Given the description of an element on the screen output the (x, y) to click on. 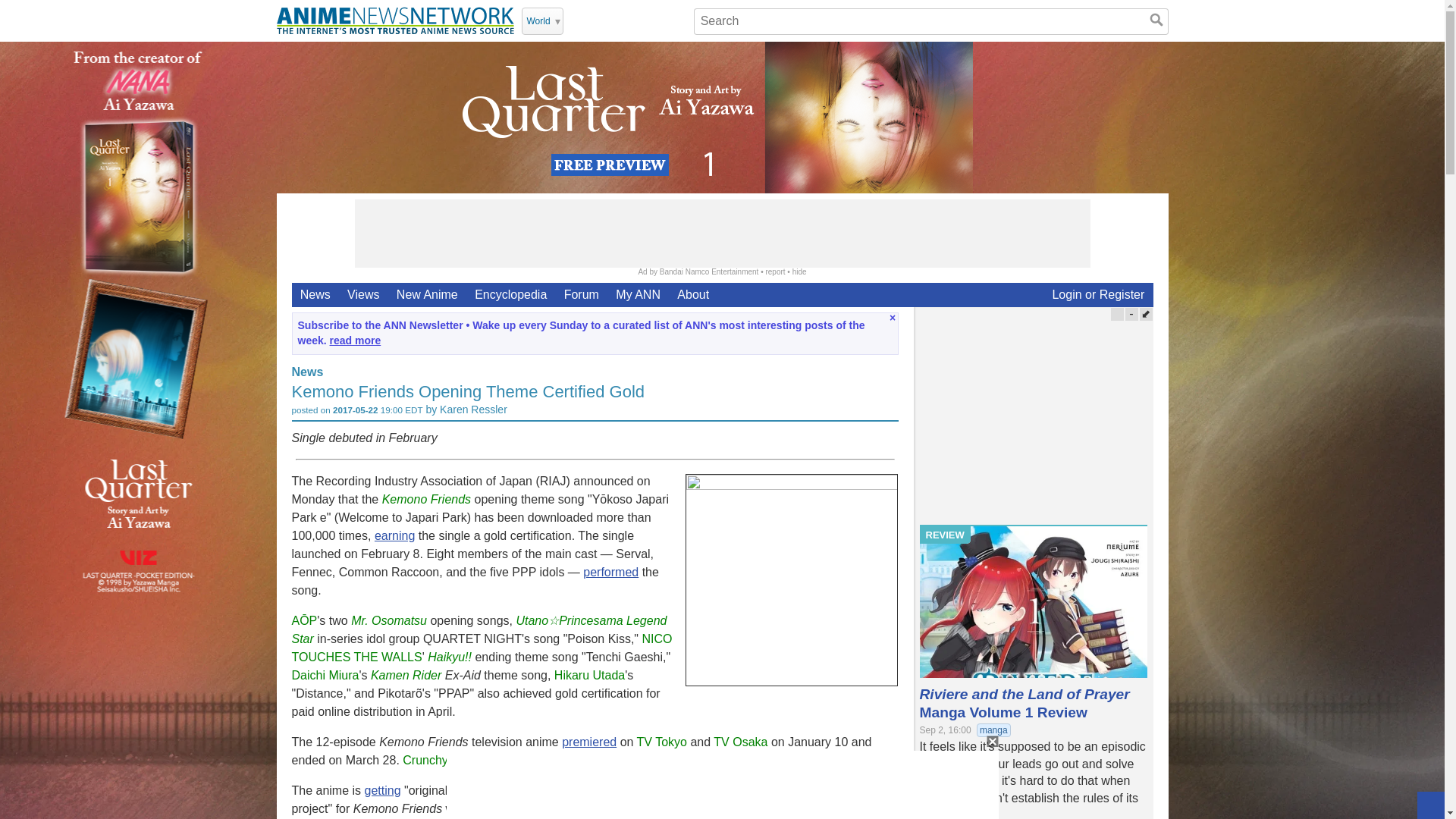
TikTok (656, 20)
Twitter (577, 20)
Facebook (617, 20)
Instagram (636, 20)
Choose Your Edition (542, 21)
Return to Homepage (394, 20)
Bluesky (675, 20)
Youtube (597, 20)
